Given the description of an element on the screen output the (x, y) to click on. 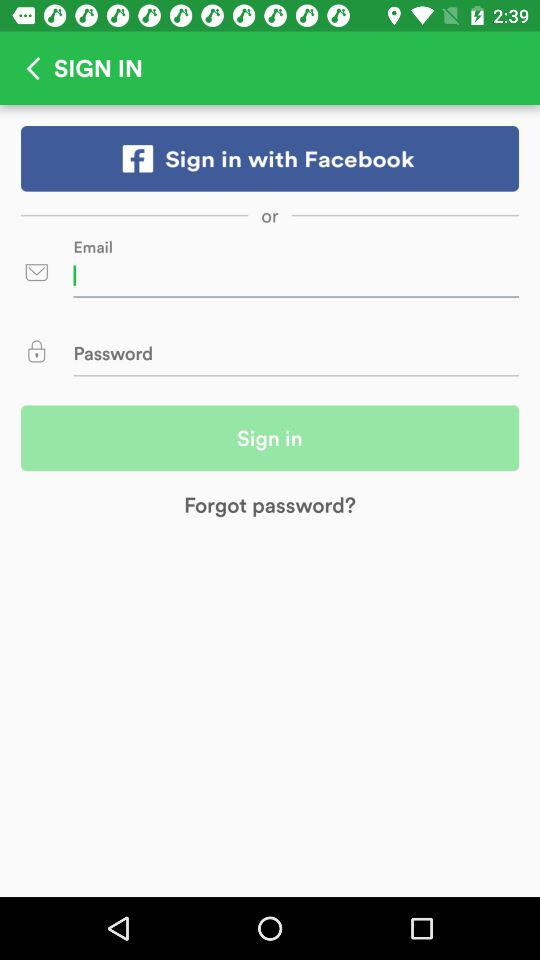
go to back (27, 68)
